Given the description of an element on the screen output the (x, y) to click on. 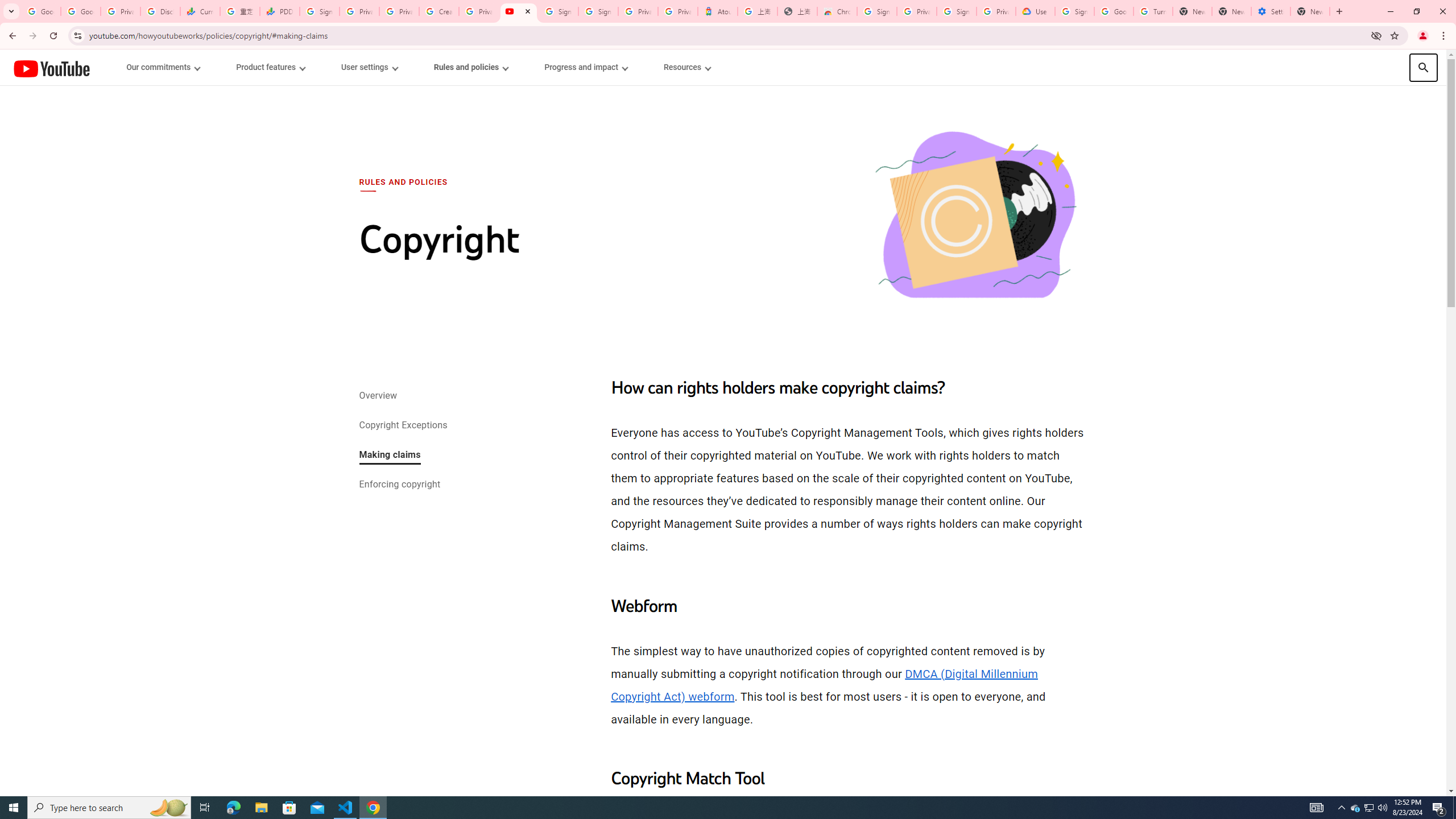
Progress and impact menupopup (585, 67)
Making claims (389, 455)
Sign in - Google Accounts (598, 11)
Google Account Help (1113, 11)
User settings menupopup (368, 67)
